Given the description of an element on the screen output the (x, y) to click on. 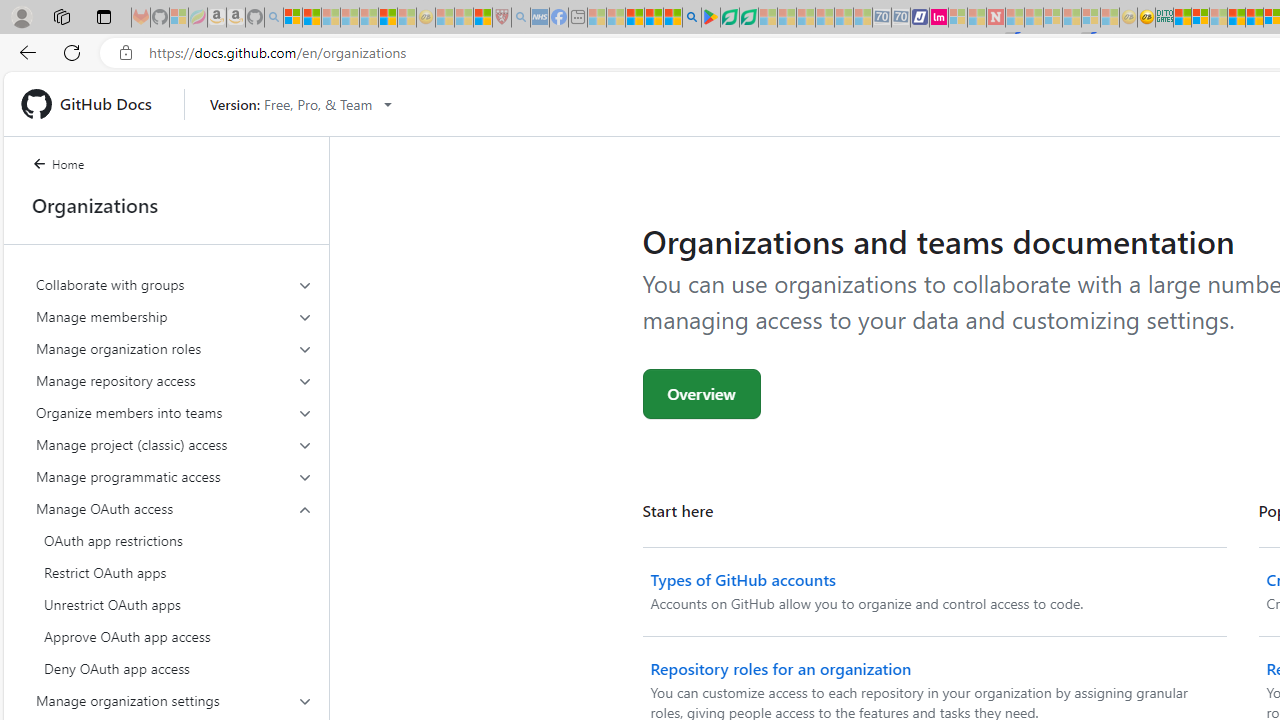
Manage membership (174, 316)
Manage OAuth access (174, 588)
Unrestrict OAuth apps (174, 604)
Local - MSN (482, 17)
Manage programmatic access (174, 476)
Manage project (classic) access (174, 444)
